Given the description of an element on the screen output the (x, y) to click on. 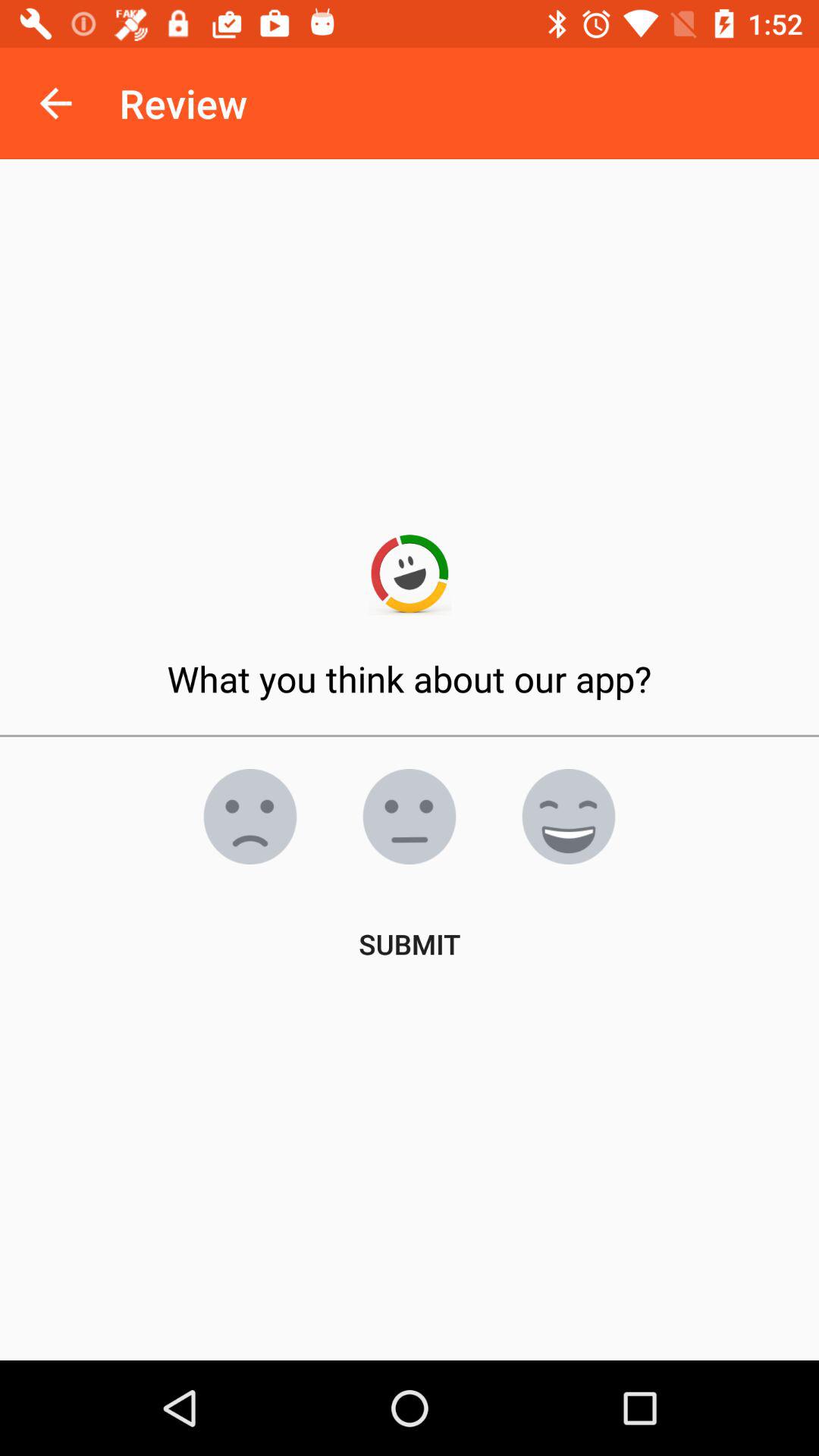
i like the app (568, 816)
